Given the description of an element on the screen output the (x, y) to click on. 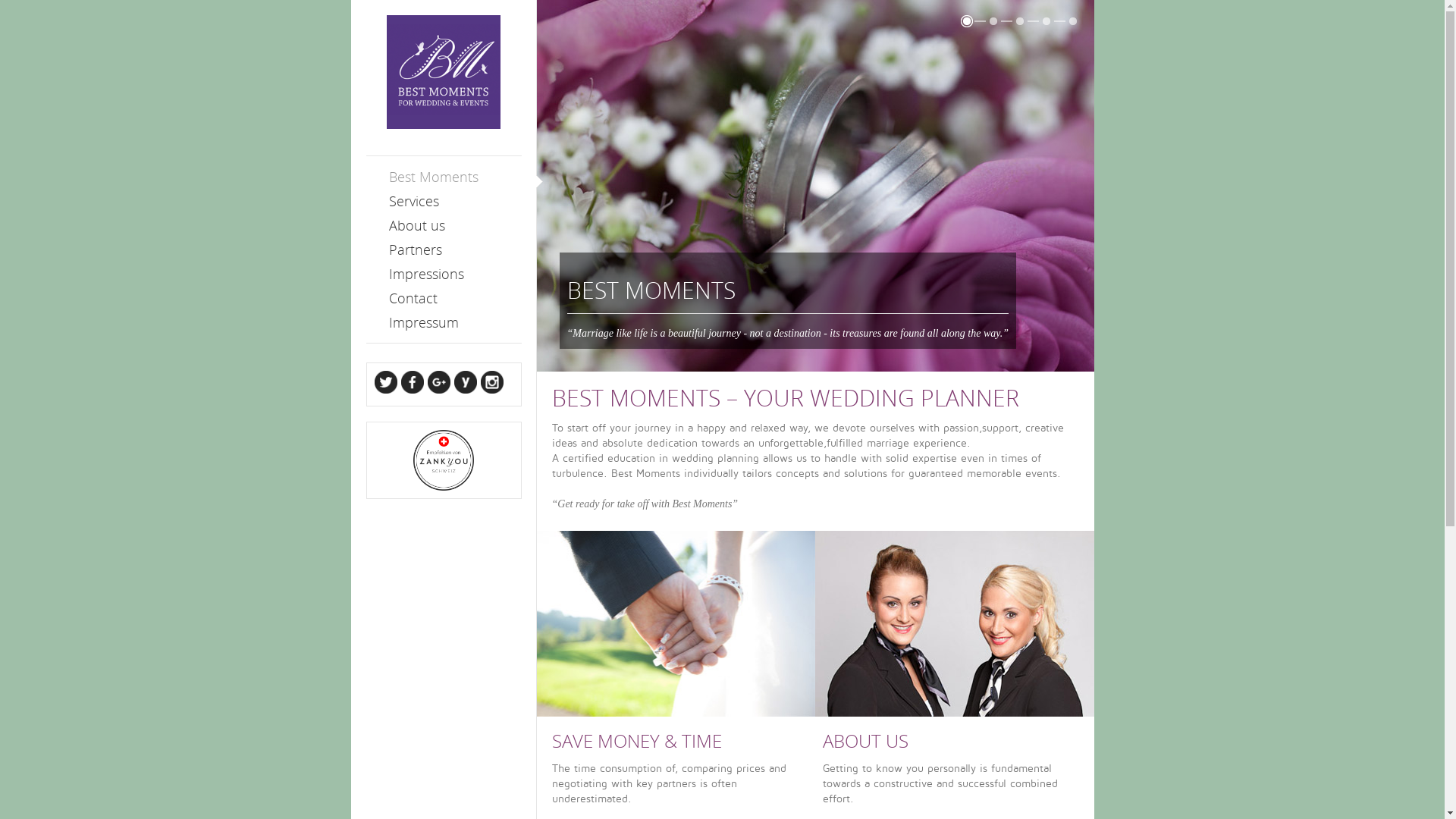
Best Moments Element type: text (454, 176)
Instagram Element type: hover (491, 389)
About us Element type: hover (954, 623)
  Element type: text (442, 85)
Partners Element type: text (454, 249)
Services Element type: text (454, 200)
Facebook Element type: hover (410, 389)
Twitter Element type: hover (385, 389)
Impressum Element type: text (454, 322)
SAVE MONEY & TIME Element type: text (636, 740)
Save money & time Element type: hover (675, 623)
Google+ Element type: hover (438, 389)
Contact Element type: text (454, 297)
Impressions Element type: text (454, 273)
About us Element type: text (454, 225)
ABOUT US Element type: text (865, 740)
Yasni Element type: hover (466, 389)
